Given the description of an element on the screen output the (x, y) to click on. 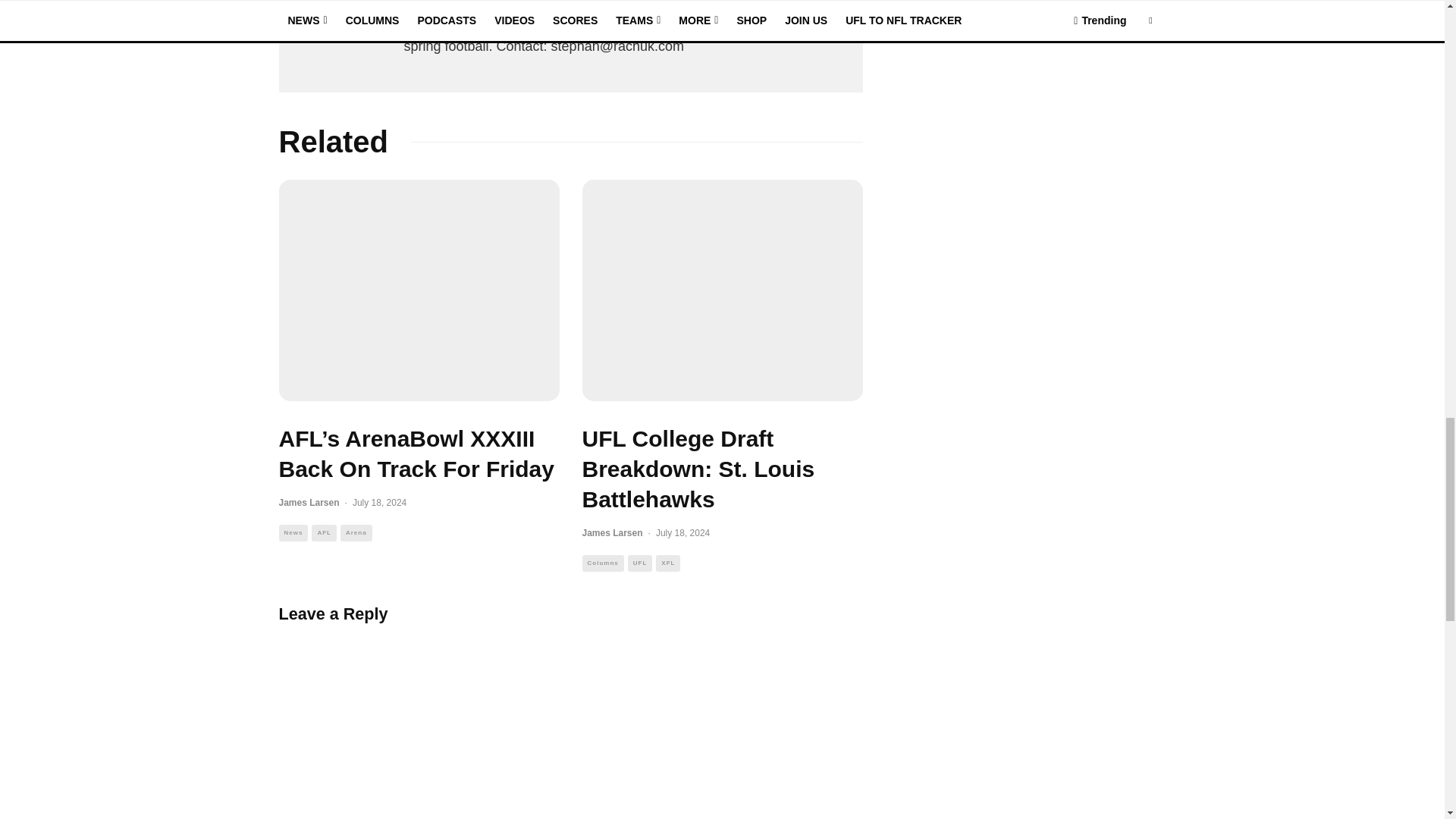
Posts by James Larsen (612, 532)
Comment Form (571, 721)
Posts by James Larsen (309, 502)
